Given the description of an element on the screen output the (x, y) to click on. 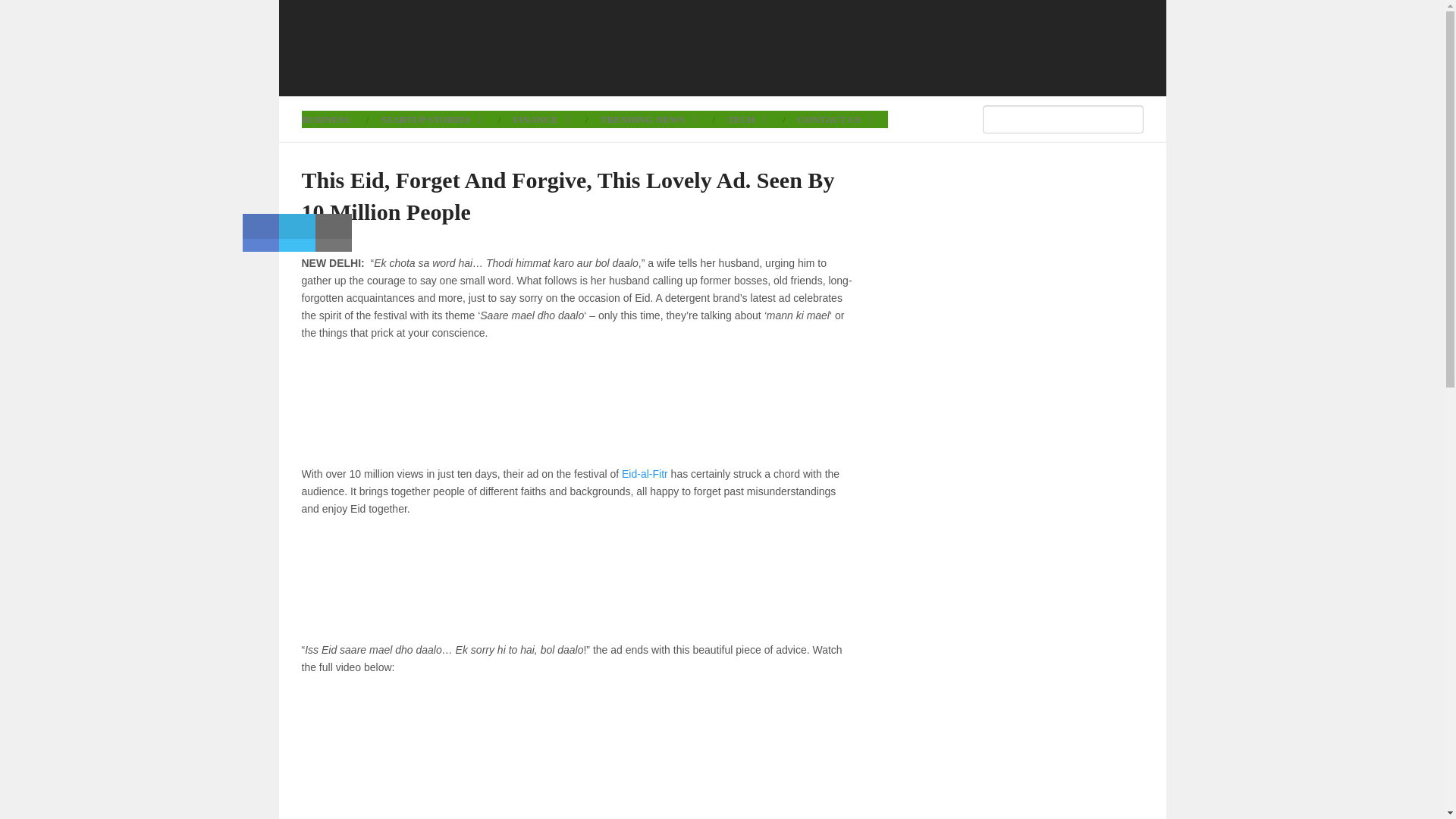
FINANCE (539, 118)
TECH (746, 118)
CONTACT US (834, 118)
TRENDING NEWS (648, 118)
BUSINESS (333, 118)
STARTUP STORIES (430, 118)
Eid-al-Fitr (644, 473)
